Given the description of an element on the screen output the (x, y) to click on. 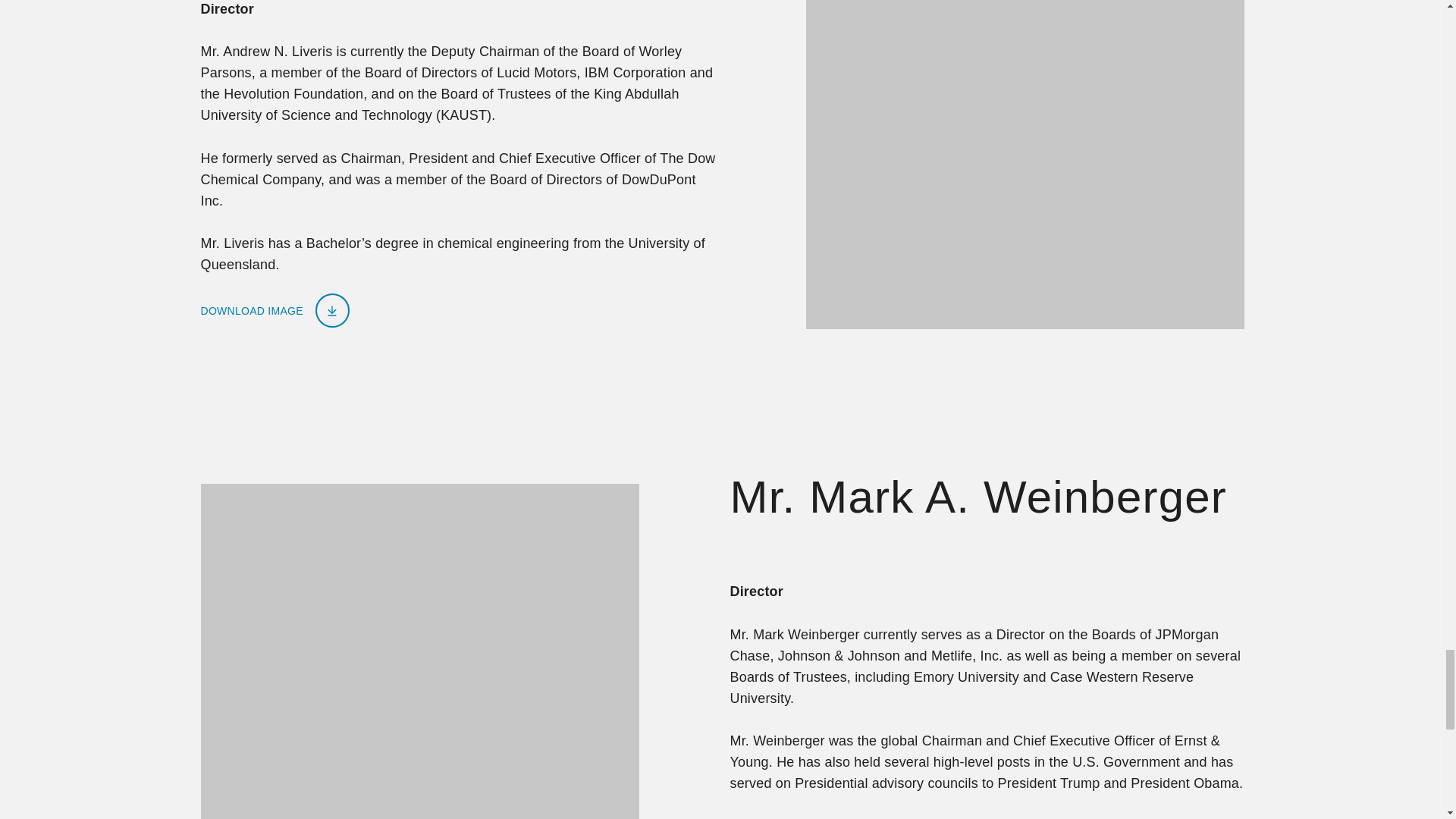
DOWNLOAD IMAGE (274, 310)
